Given the description of an element on the screen output the (x, y) to click on. 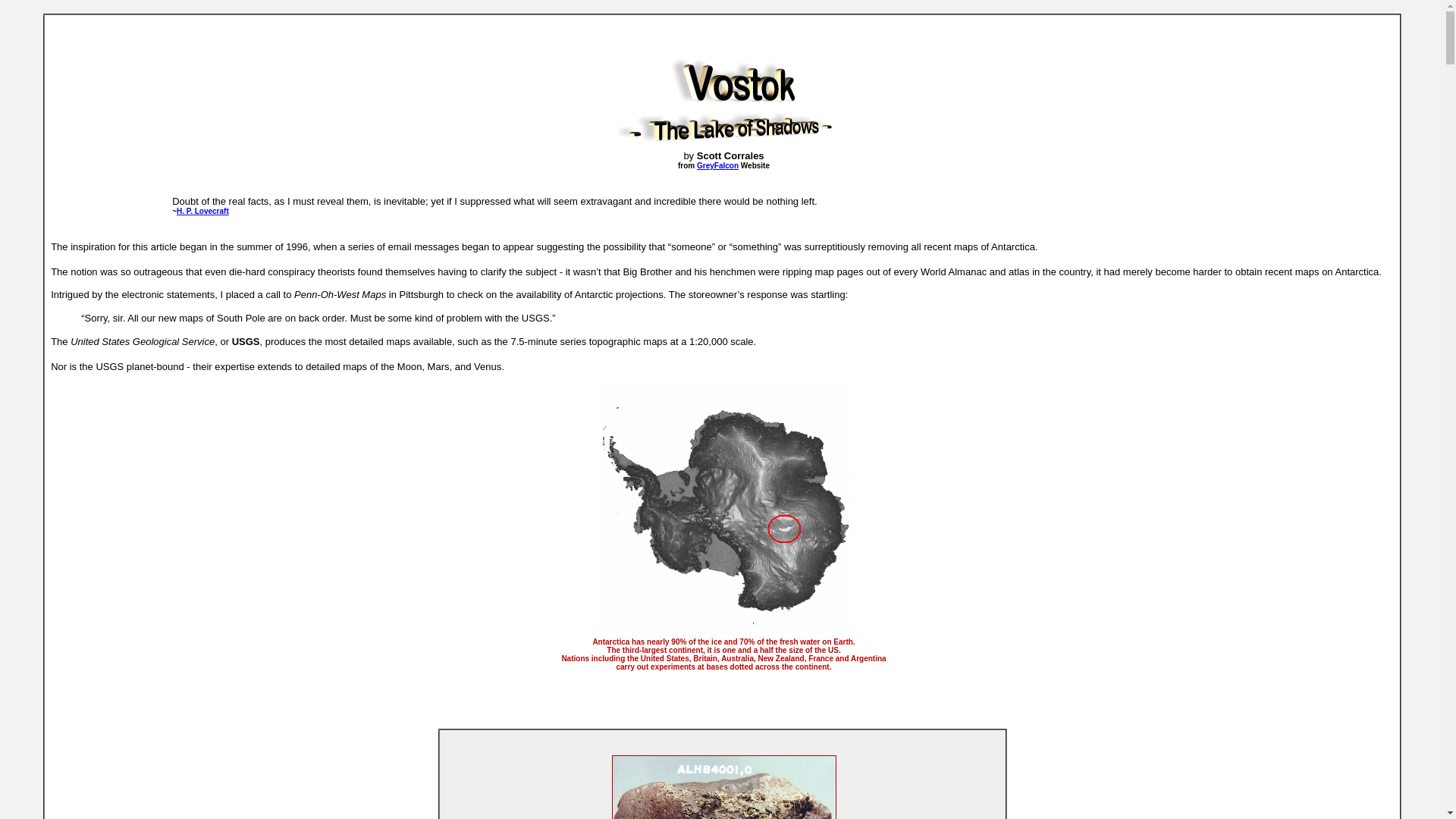
H. P. Lovecraft (202, 211)
GreyFalcon (717, 165)
